Given the description of an element on the screen output the (x, y) to click on. 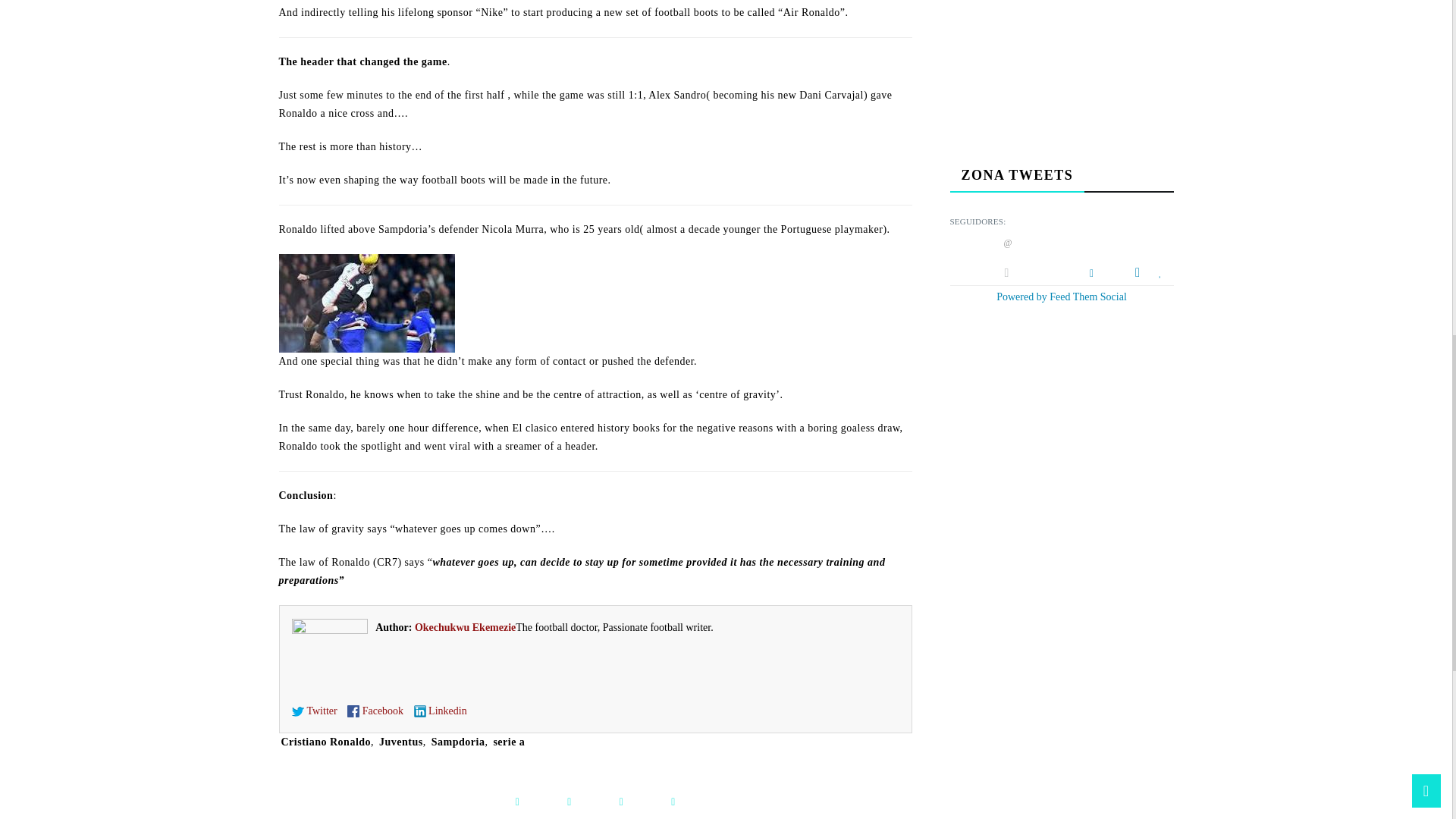
Linkedin (440, 710)
Okechukwu Ekemezie (464, 627)
Visitar el sitio de Okechukwu Ekemezie (464, 627)
Click to share this post on Facebook (517, 802)
Cristiano Ronaldo (326, 741)
Click to share this post on Twitter (569, 802)
Click to share this post on Linkedin (672, 802)
Twitter (314, 710)
Facebook (375, 710)
Advertisement (1062, 63)
